Given the description of an element on the screen output the (x, y) to click on. 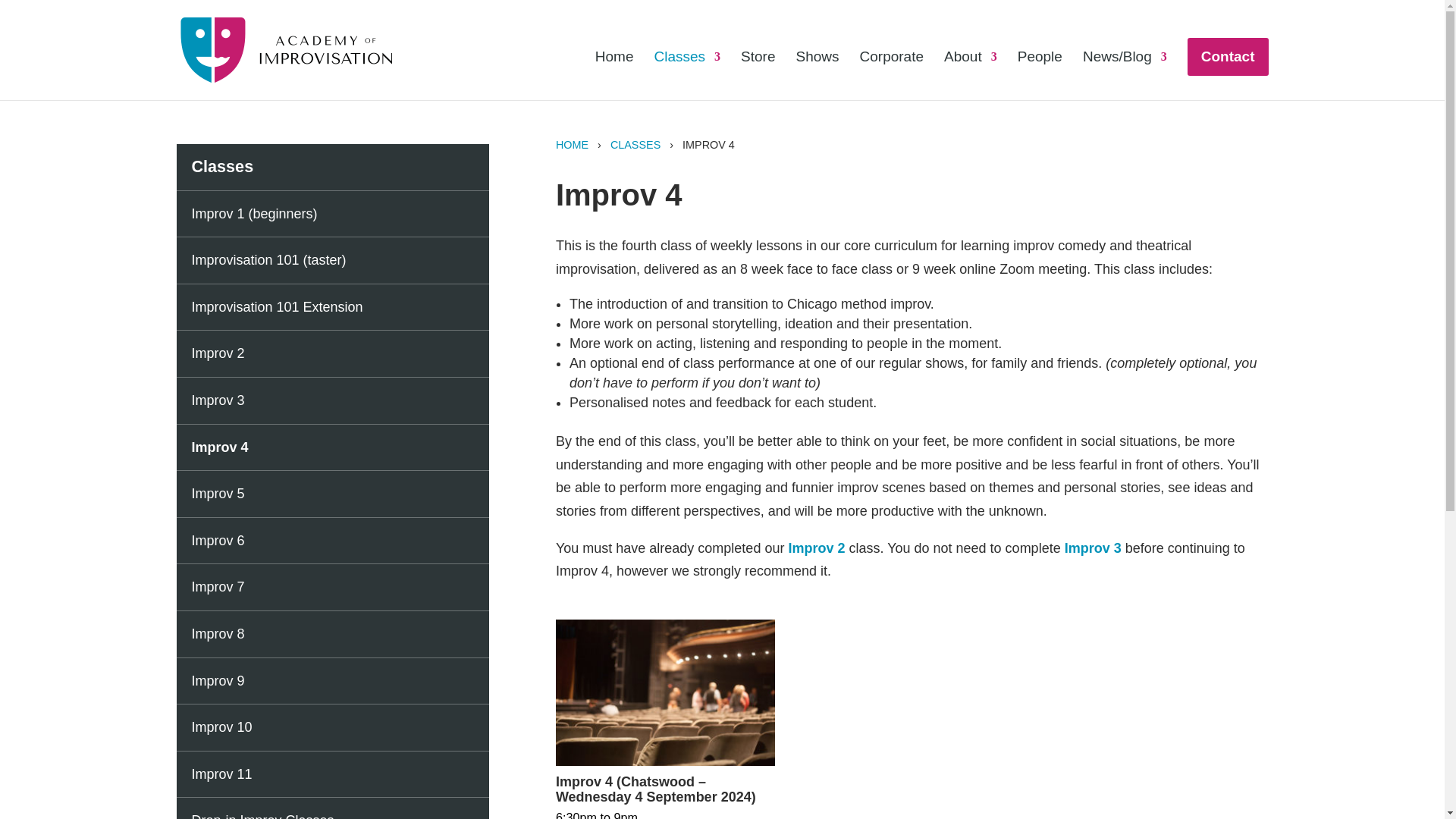
About (970, 75)
Contact (1228, 56)
Corporate (892, 75)
Classes (686, 75)
Shows (818, 75)
People (1039, 75)
